Given the description of an element on the screen output the (x, y) to click on. 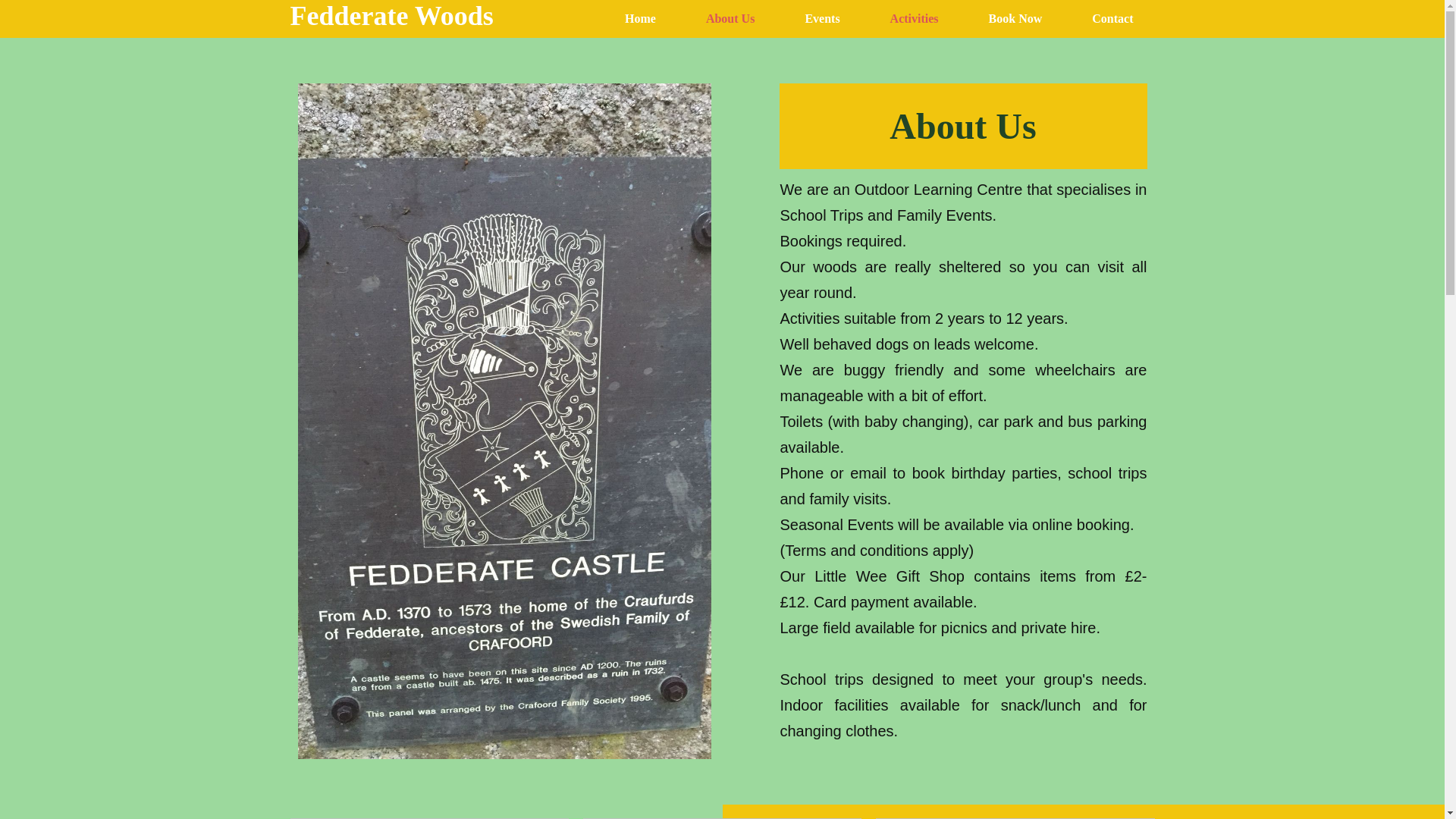
Book Now (1016, 18)
About Us (730, 18)
Activities (914, 18)
Contact (1112, 18)
Home (640, 18)
Events (821, 18)
